Given the description of an element on the screen output the (x, y) to click on. 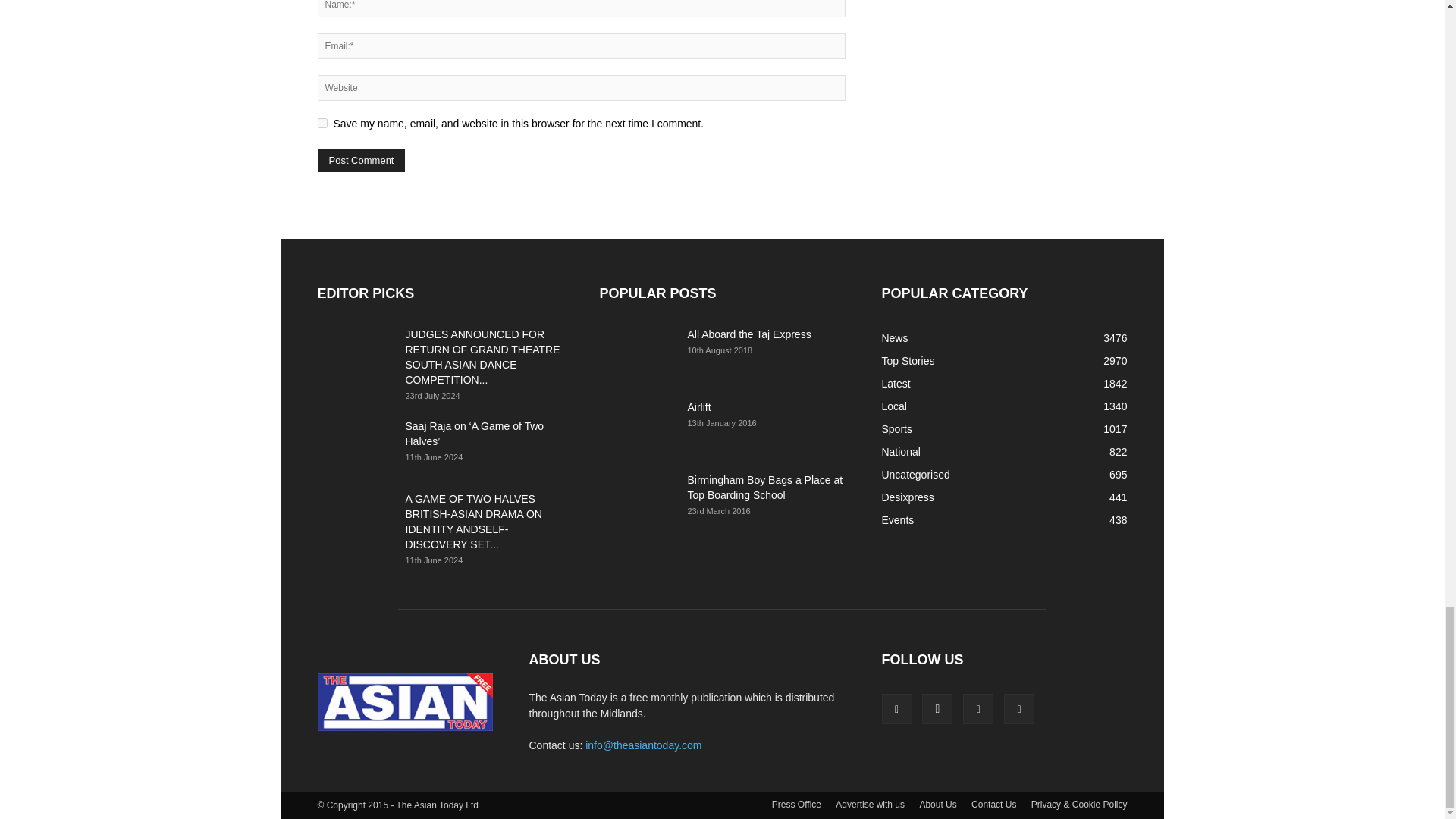
Post Comment (360, 159)
yes (321, 122)
